Given the description of an element on the screen output the (x, y) to click on. 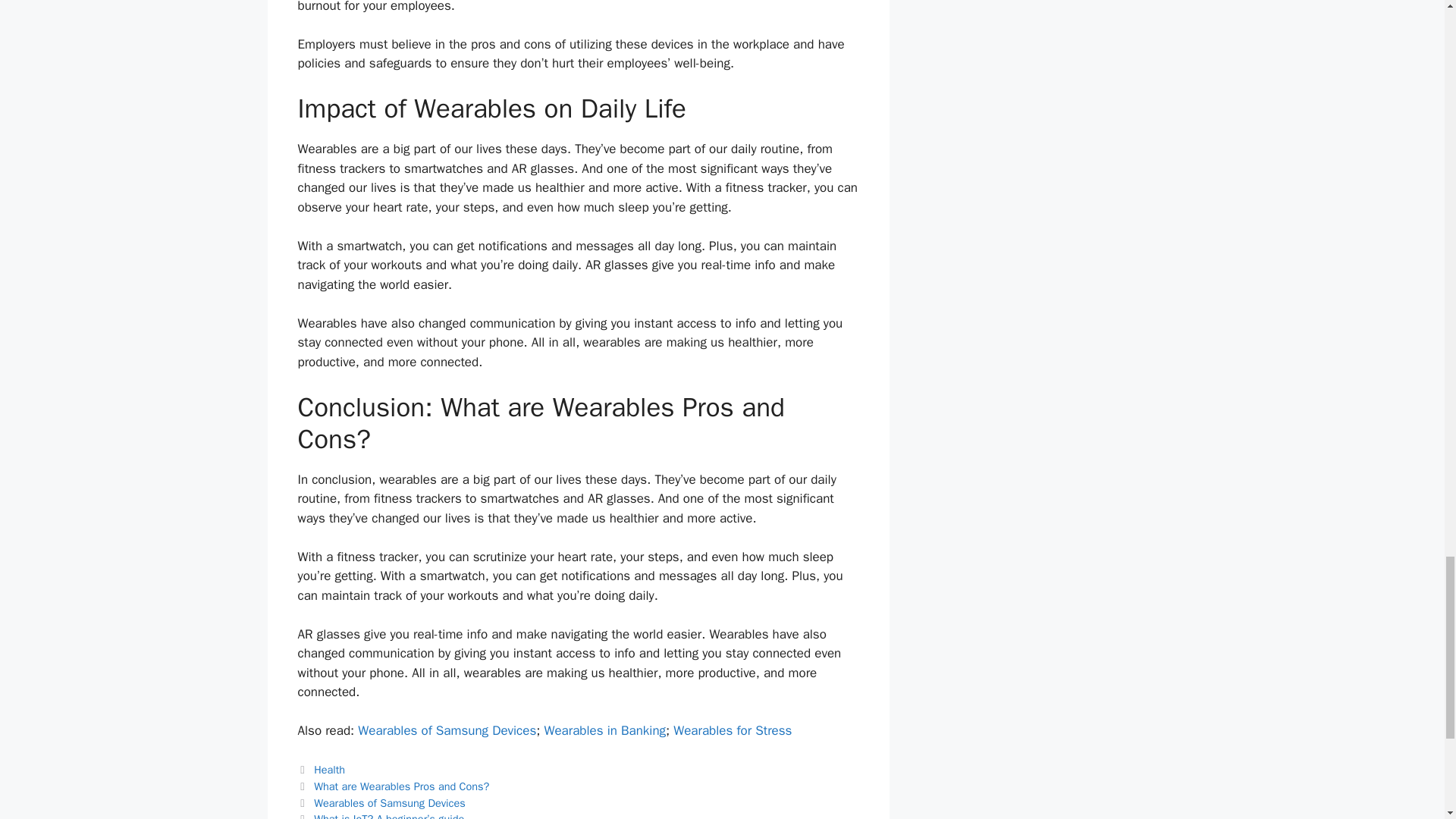
Wearables of Samsung Devices (389, 802)
Wearables of Samsung Devices (446, 730)
Wearables for Stress (732, 730)
What are Wearables Pros and Cons? (401, 786)
Wearables in Banking (604, 730)
Health (329, 769)
